Given the description of an element on the screen output the (x, y) to click on. 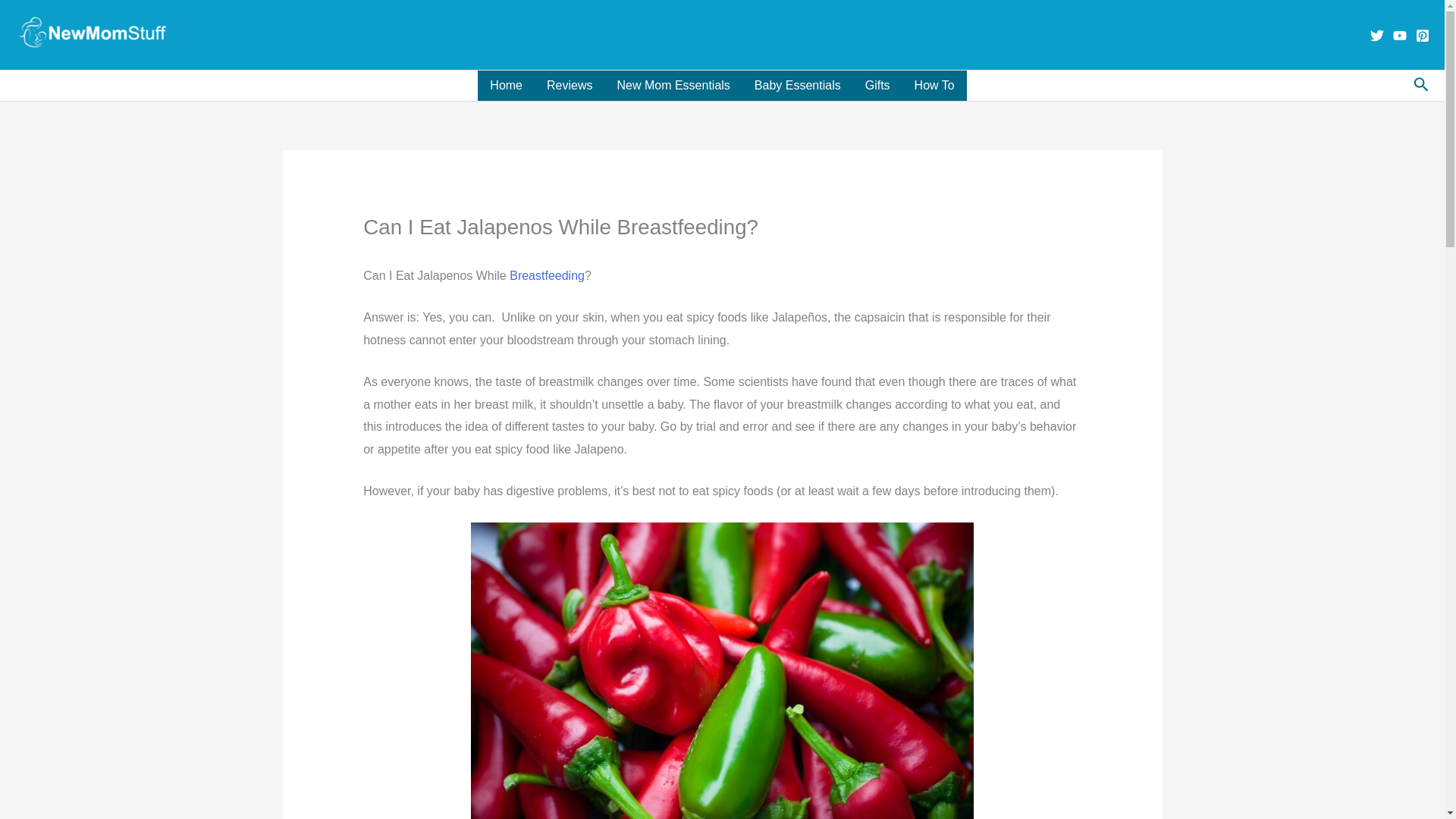
Home (505, 85)
New Mom Essentials (672, 85)
Reviews (569, 85)
How To (934, 85)
Gifts (877, 85)
Breastfeeding (547, 275)
Baby Essentials (797, 85)
